Given the description of an element on the screen output the (x, y) to click on. 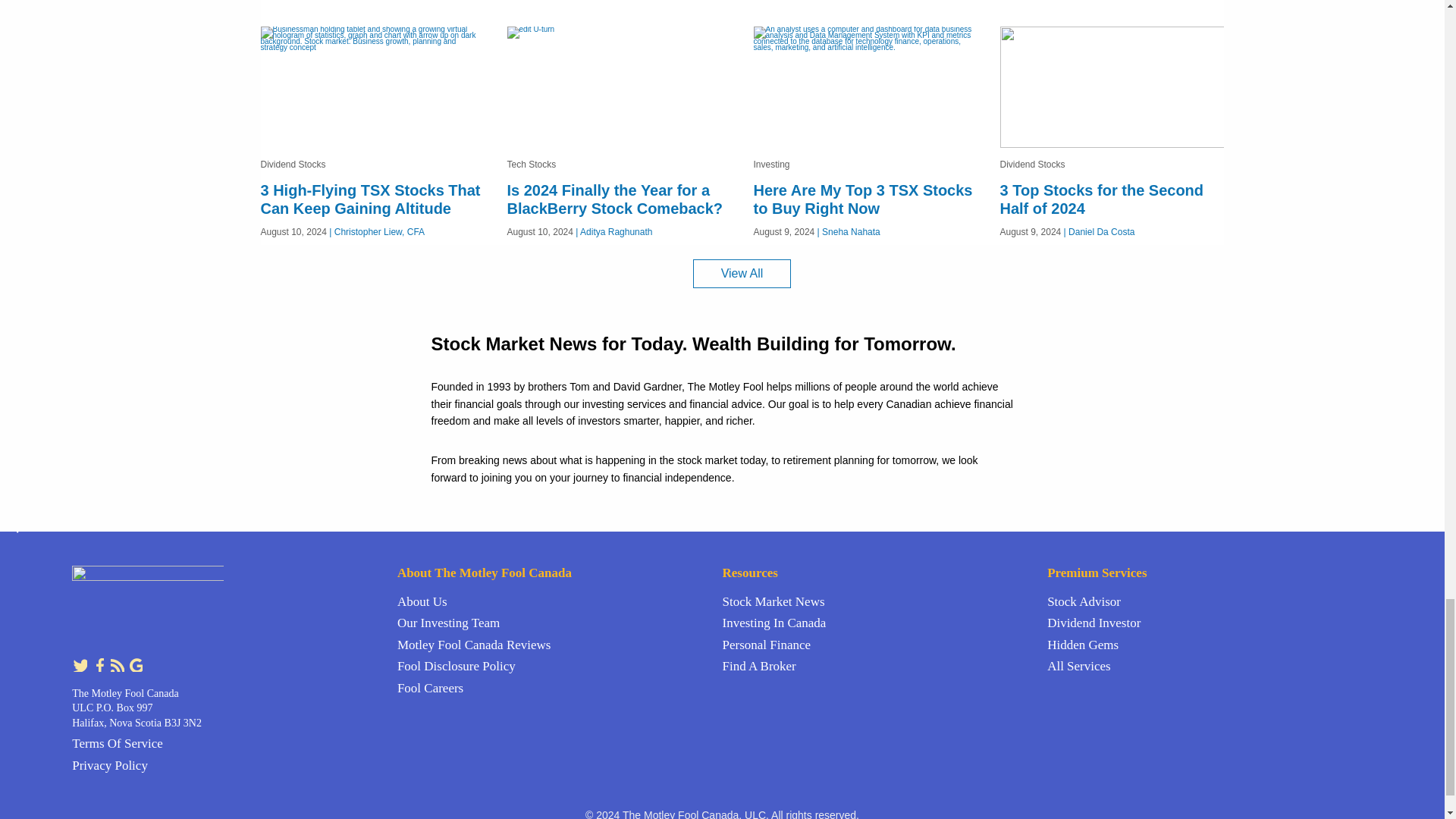
Like us on Facebook (99, 663)
Follow us on Twitter (80, 663)
Follow us on Google News (135, 663)
Subscribe to our feed (118, 663)
